Given the description of an element on the screen output the (x, y) to click on. 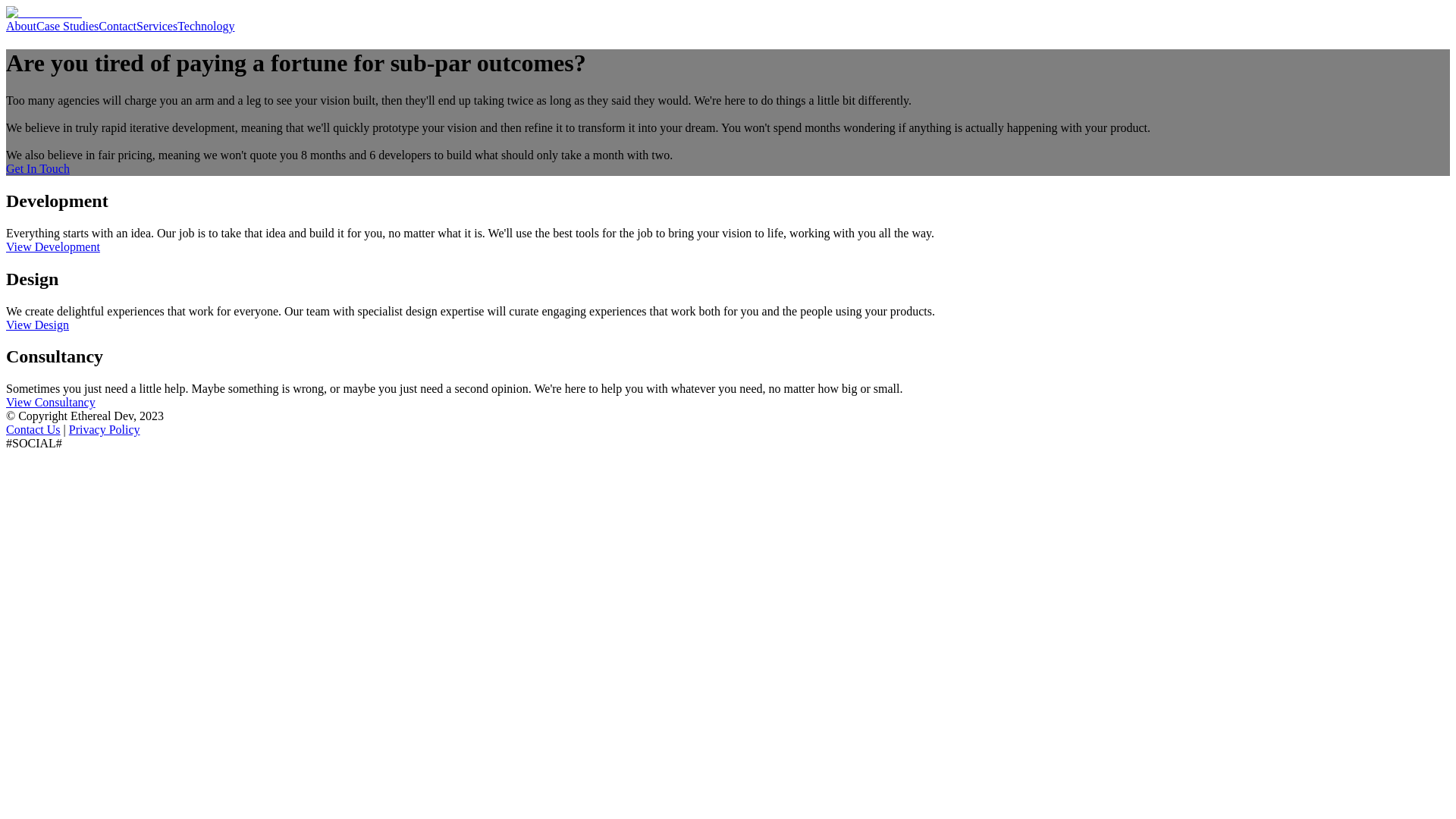
Technology (205, 25)
Get In Touch (37, 168)
View Design (36, 324)
About (20, 25)
Case Studies (67, 25)
Contact Us (33, 429)
Services (156, 25)
View Consultancy (50, 401)
View Development (52, 246)
Contact (117, 25)
